Given the description of an element on the screen output the (x, y) to click on. 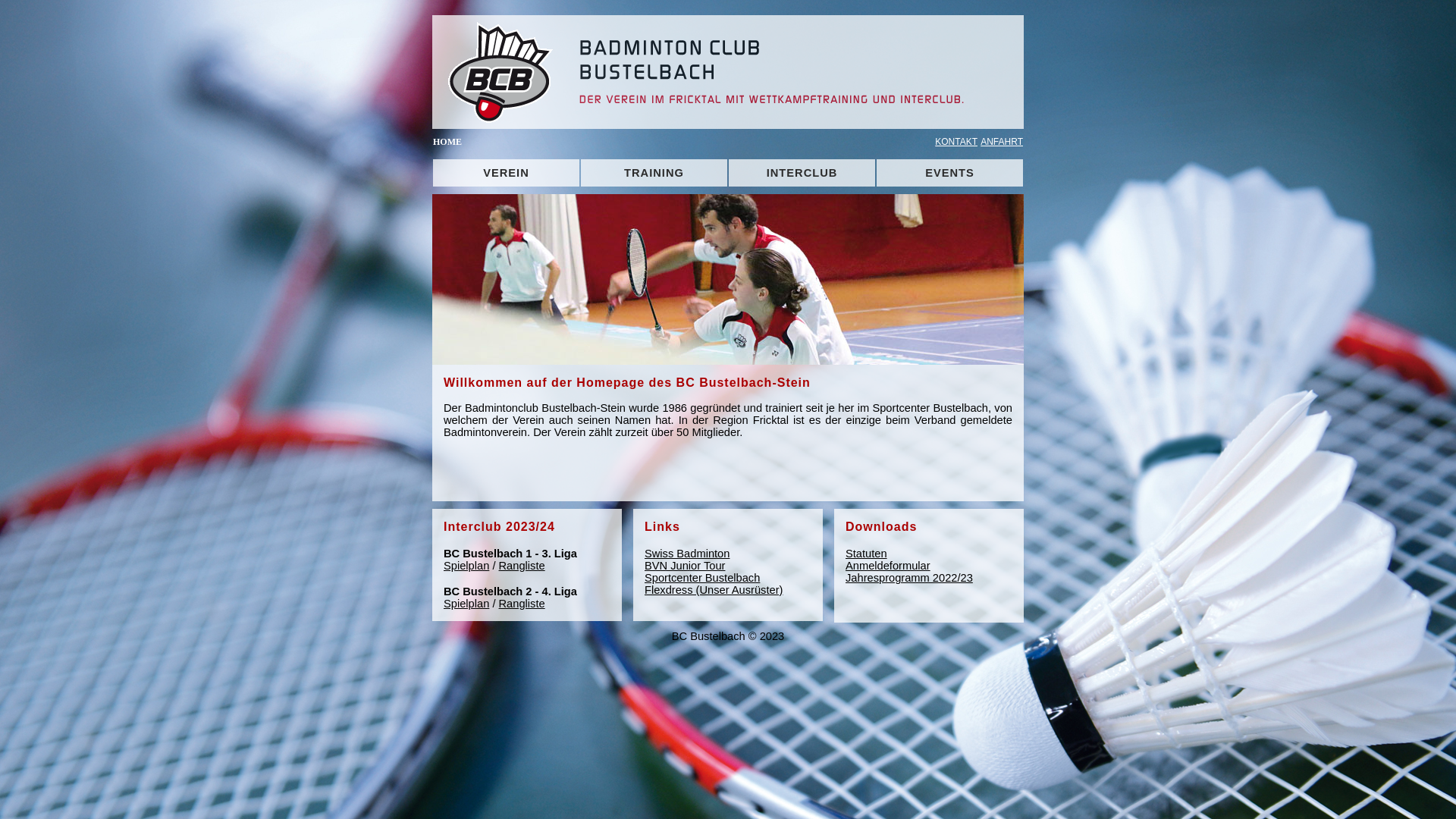
KONTAKT Element type: text (954, 141)
Anmeldeformular Element type: text (887, 565)
BVN Junior Tour Element type: text (684, 565)
Sportcenter Bustelbach Element type: text (701, 577)
VEREIN Element type: text (506, 172)
ANFAHRT Element type: text (999, 141)
EVENTS Element type: text (949, 172)
Rangliste Element type: text (521, 565)
Rangliste Element type: text (521, 603)
Spielplan Element type: text (466, 565)
TRAINING Element type: text (653, 172)
Spielplan Element type: text (466, 603)
INTERCLUB Element type: text (801, 172)
Statuten Element type: text (866, 553)
Jahresprogramm 2022/23 Element type: text (908, 577)
Swiss Badminton Element type: text (686, 553)
